Given the description of an element on the screen output the (x, y) to click on. 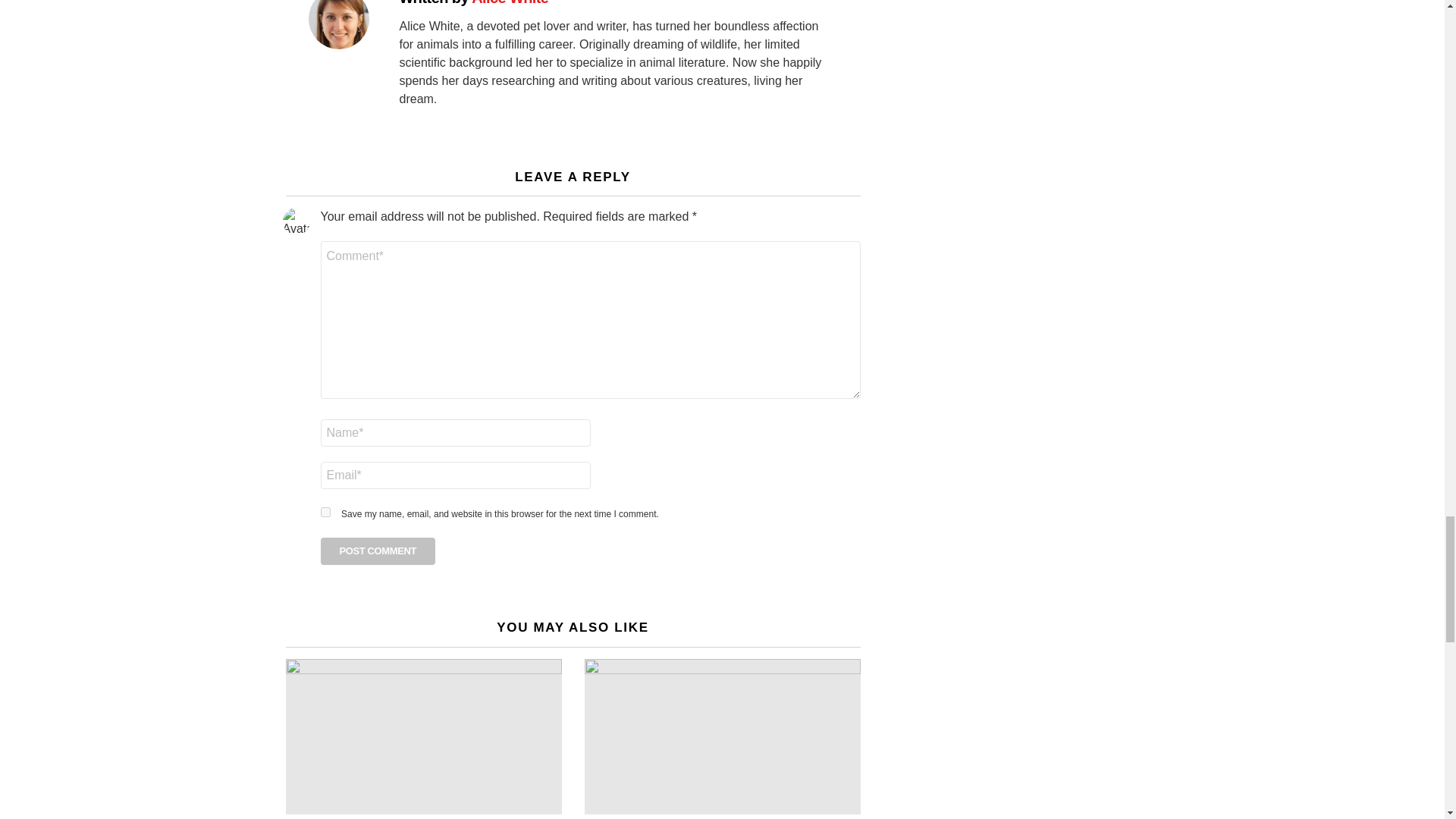
Alice White (509, 2)
Post Comment (377, 551)
yes (325, 511)
